Given the description of an element on the screen output the (x, y) to click on. 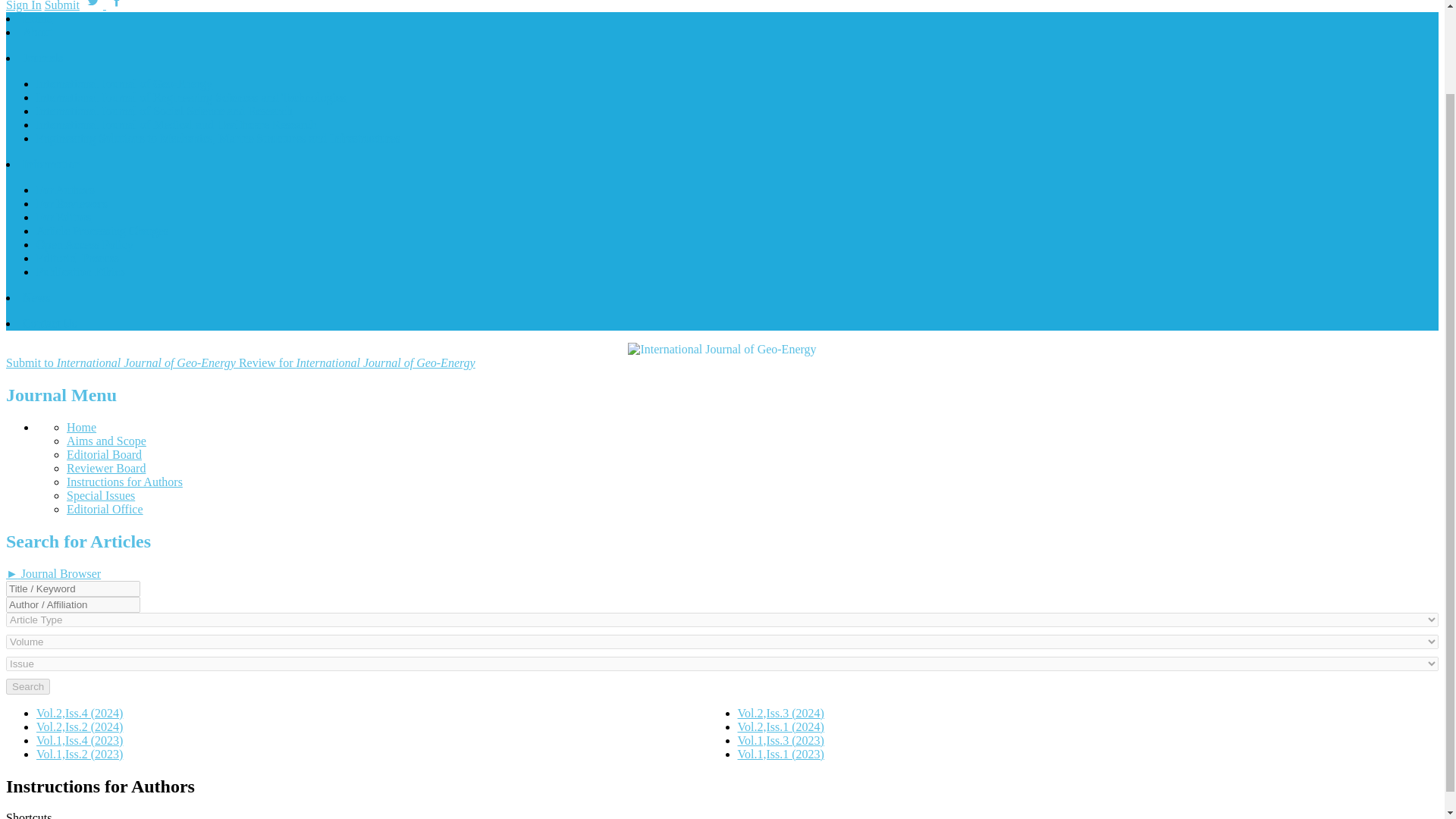
News (36, 297)
Editorial Board (103, 454)
For Editors (63, 216)
Aims and Scope (106, 440)
About (37, 31)
Reviewer Board (105, 468)
Article Processing Charges (102, 230)
Editorial Office (104, 508)
International Journal of Geo-Energy (124, 83)
Open Access Policy (84, 244)
International Journal of Medical and Healthcare Research (176, 124)
Journals (42, 57)
Review for International Journal of Geo-Energy (357, 362)
Special Issues (100, 495)
